Given the description of an element on the screen output the (x, y) to click on. 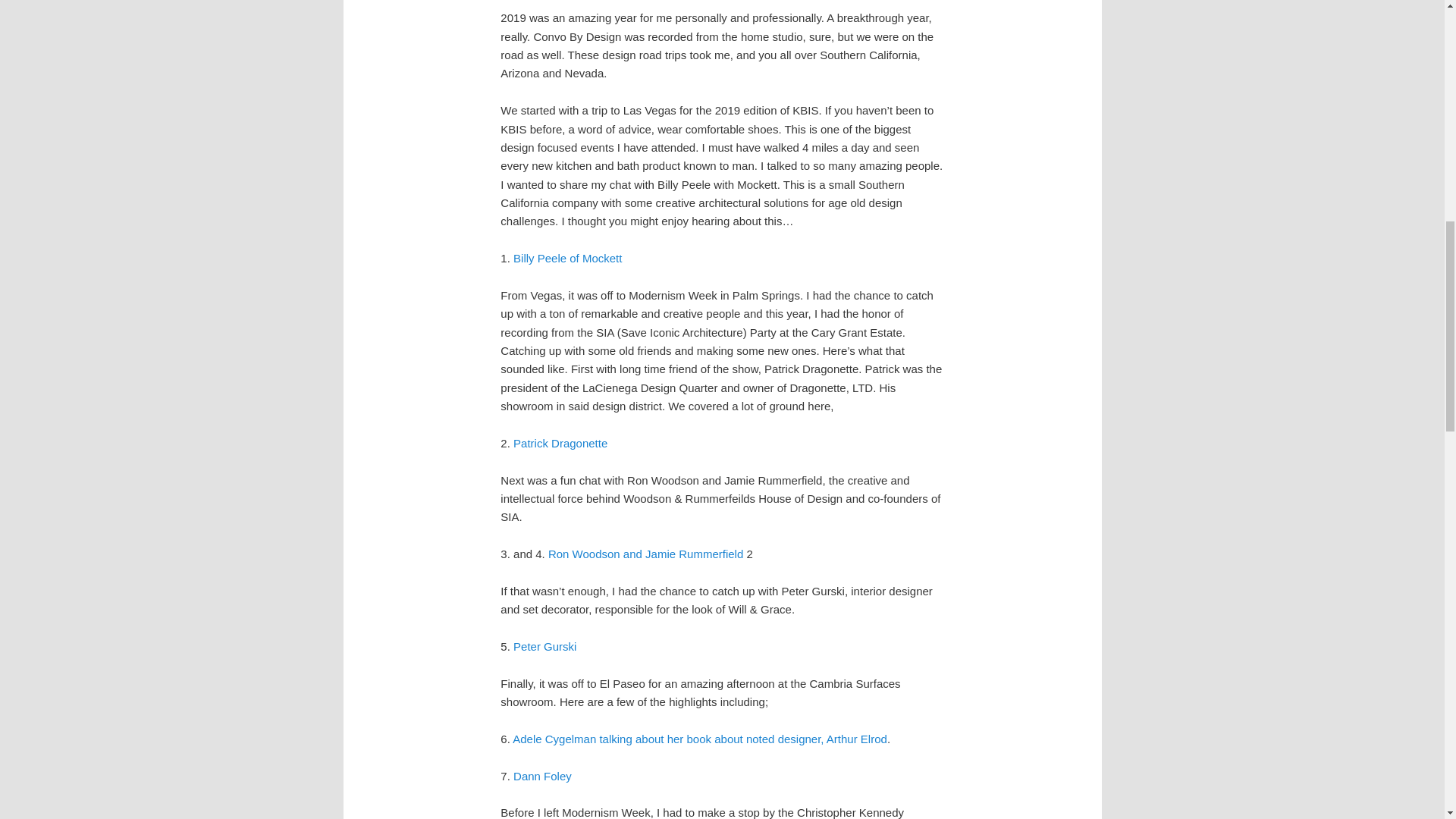
Billy Peele of Mockett (567, 257)
Peter Gurski (544, 645)
Ron Woodson and Jamie Rummerfield (644, 553)
Dann Foley (542, 775)
Patrick Dragonette (560, 442)
